Given the description of an element on the screen output the (x, y) to click on. 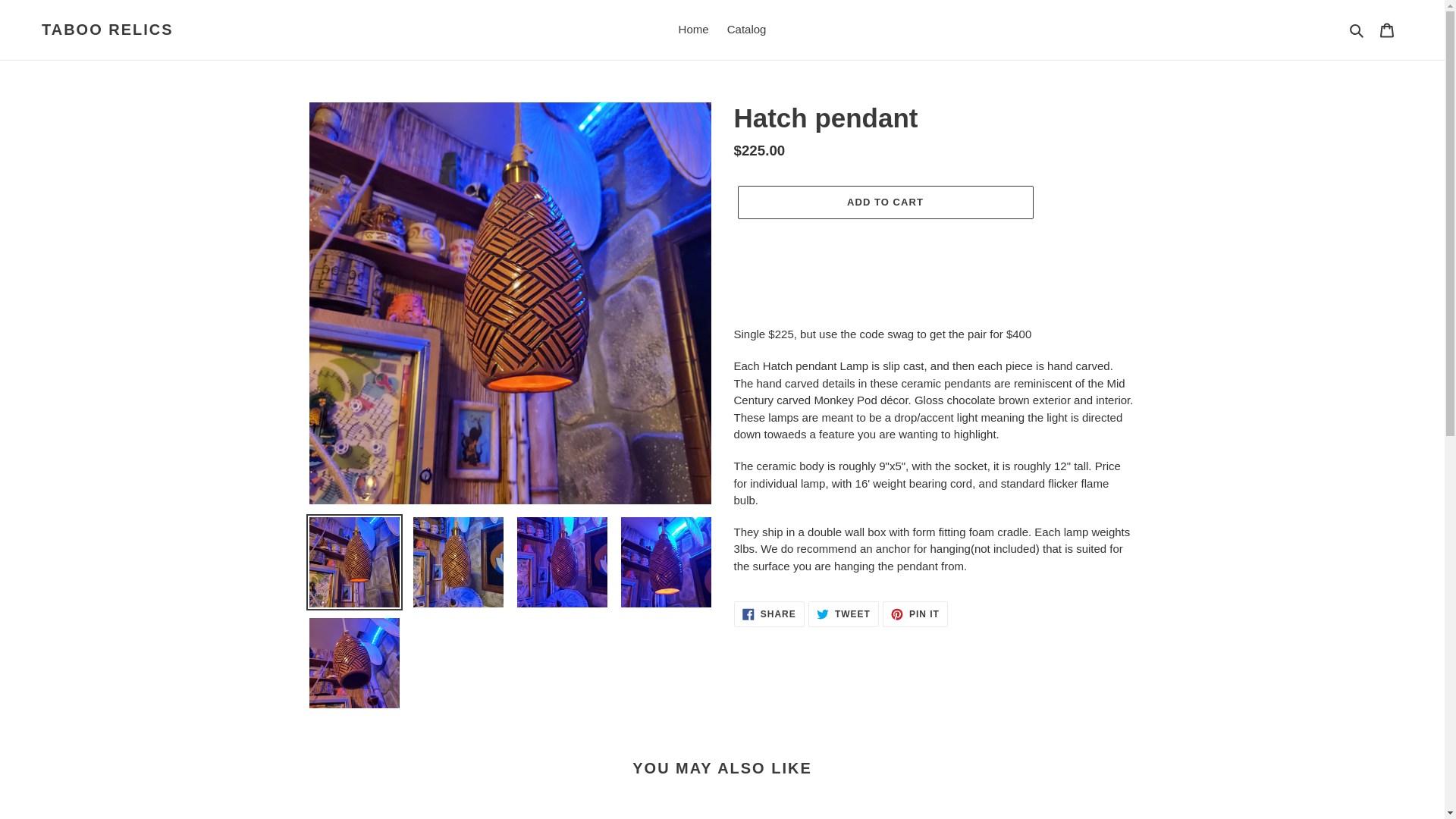
Home (843, 614)
ADD TO CART (914, 614)
Search (693, 29)
Catalog (884, 202)
Cart (1357, 29)
TABOO RELICS (746, 29)
